Given the description of an element on the screen output the (x, y) to click on. 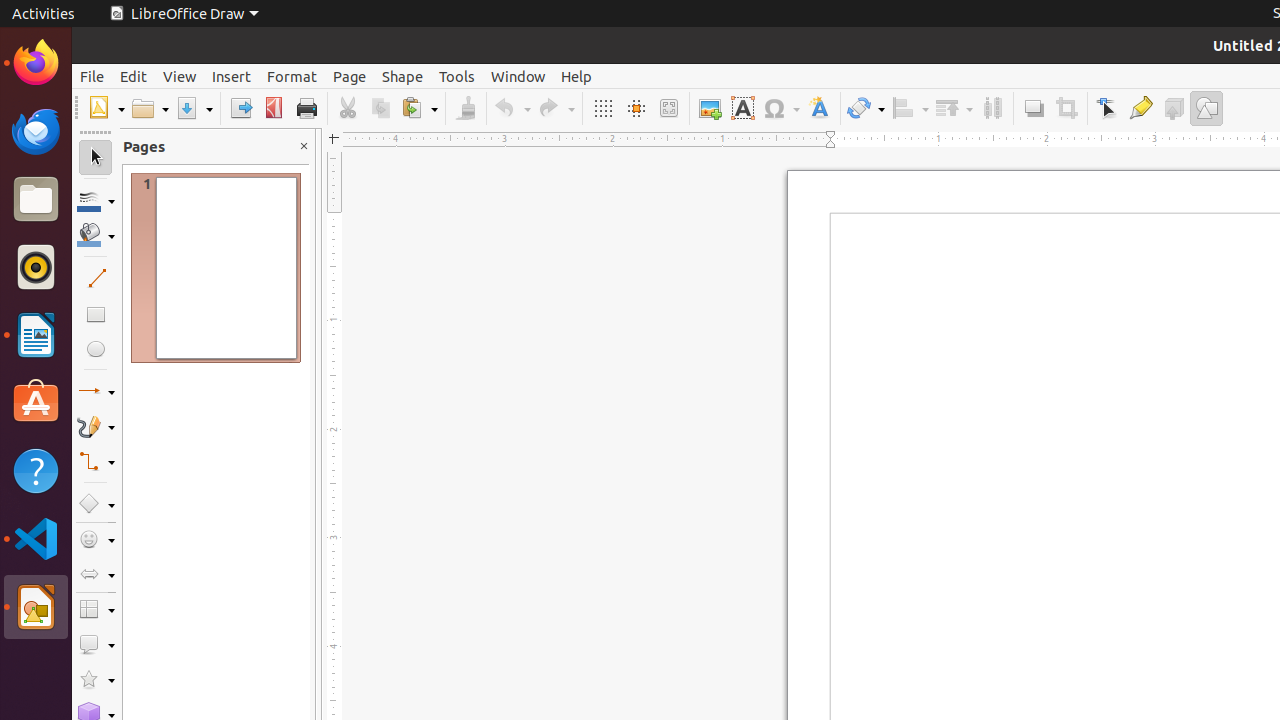
Line Element type: push-button (95, 278)
Tools Element type: menu (457, 76)
Ubuntu Software Element type: push-button (36, 402)
Helplines While Moving Element type: toggle-button (635, 108)
Help Element type: menu (576, 76)
